Given the description of an element on the screen output the (x, y) to click on. 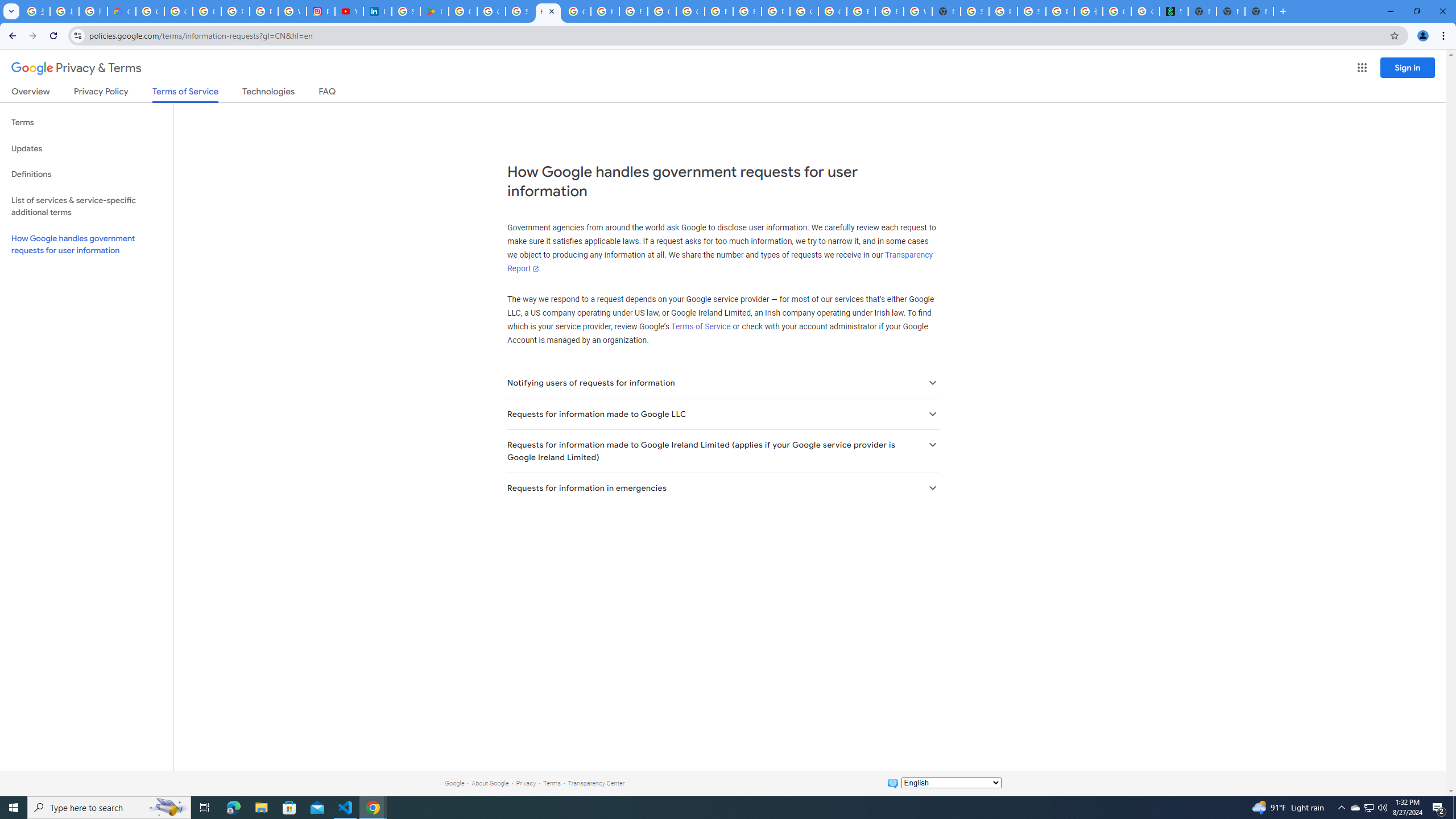
New Tab (946, 11)
Privacy Help Center - Policies Help (234, 11)
Transparency Center (595, 783)
About Google (490, 783)
Requests for information in emergencies (722, 488)
Sign in - Google Accounts (974, 11)
